Given the description of an element on the screen output the (x, y) to click on. 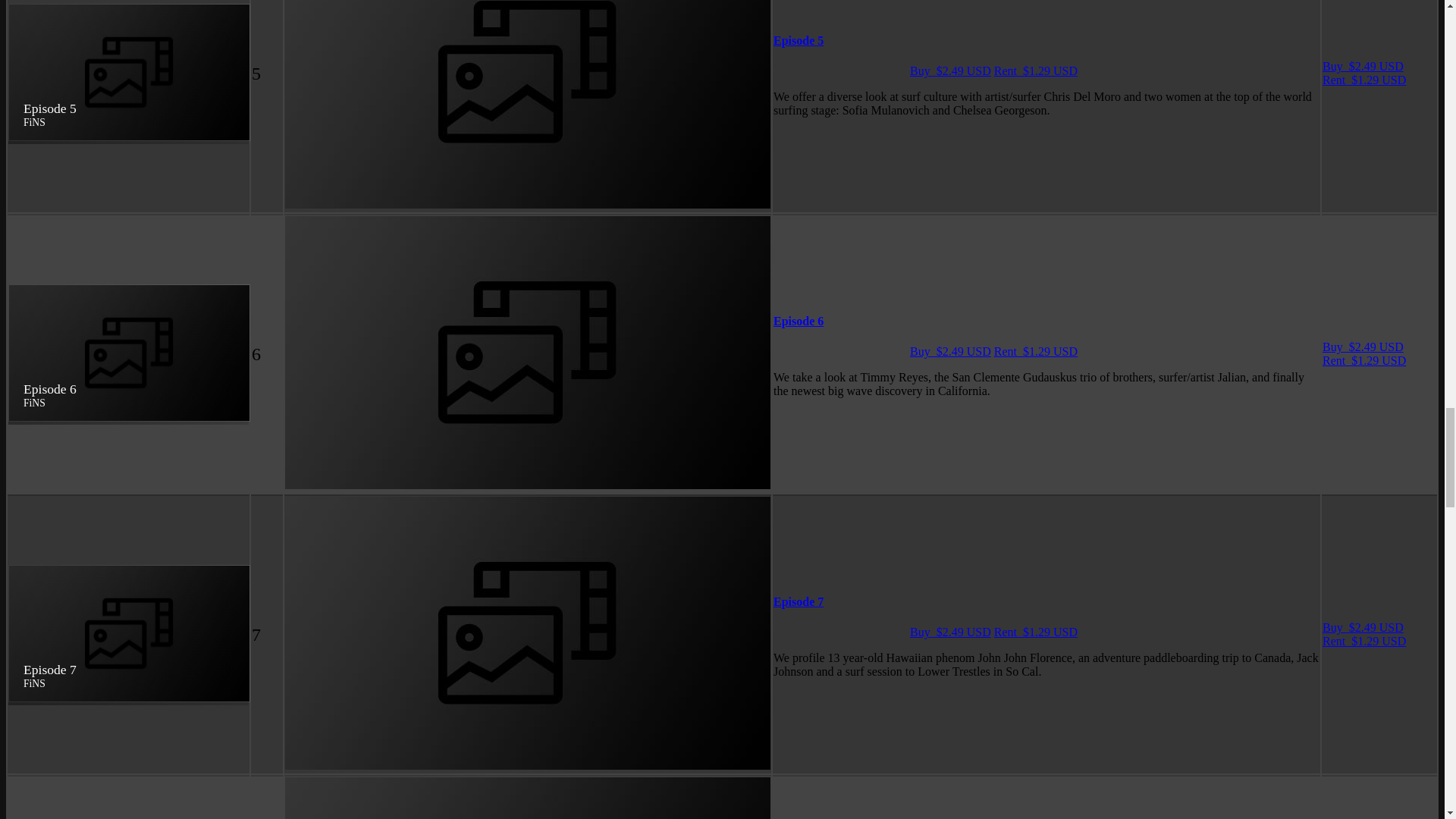
Episode  7 (798, 601)
Episode  5 (798, 40)
Episode  6 (798, 320)
